Given the description of an element on the screen output the (x, y) to click on. 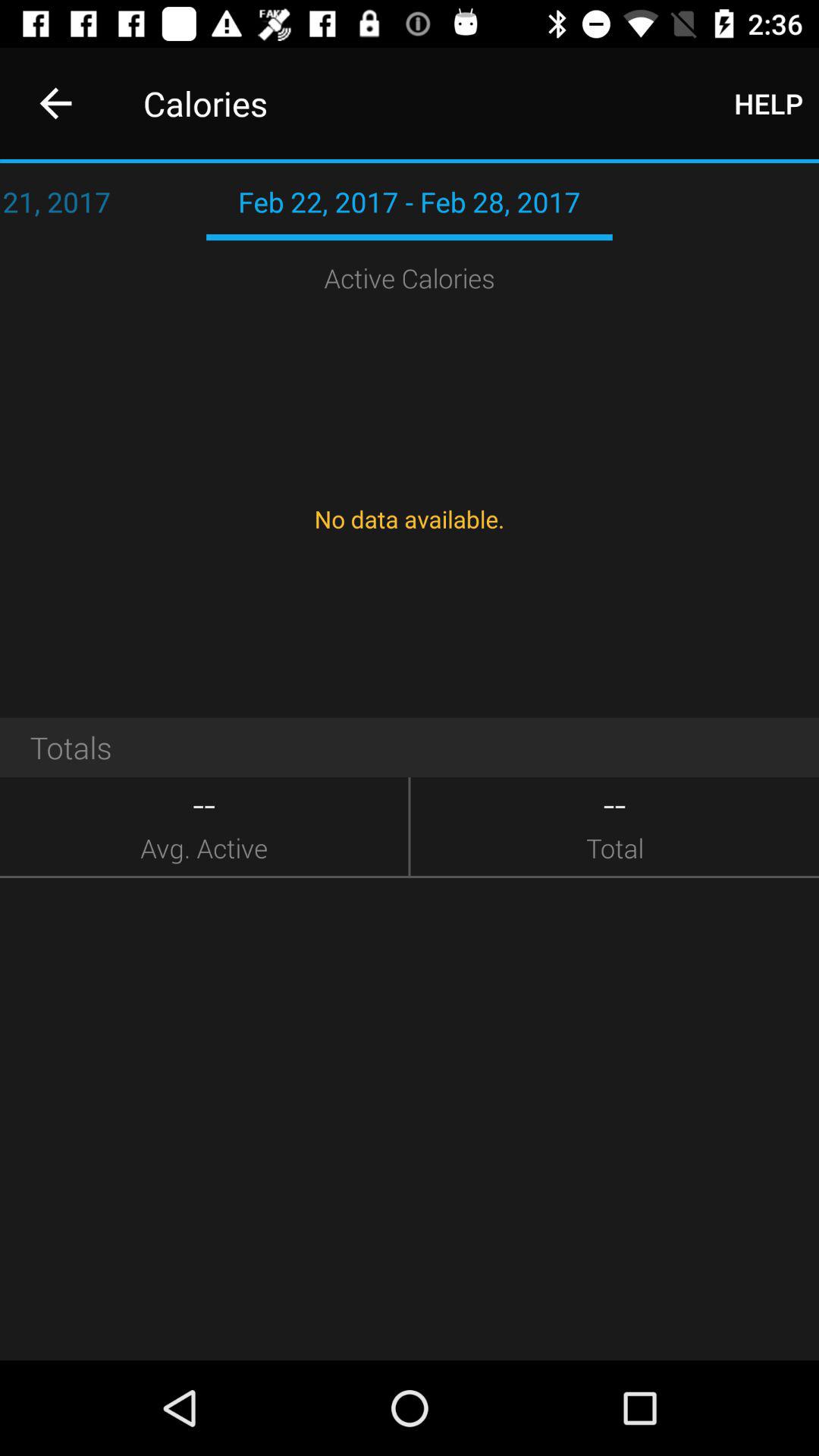
tap icon next to calories item (768, 103)
